Given the description of an element on the screen output the (x, y) to click on. 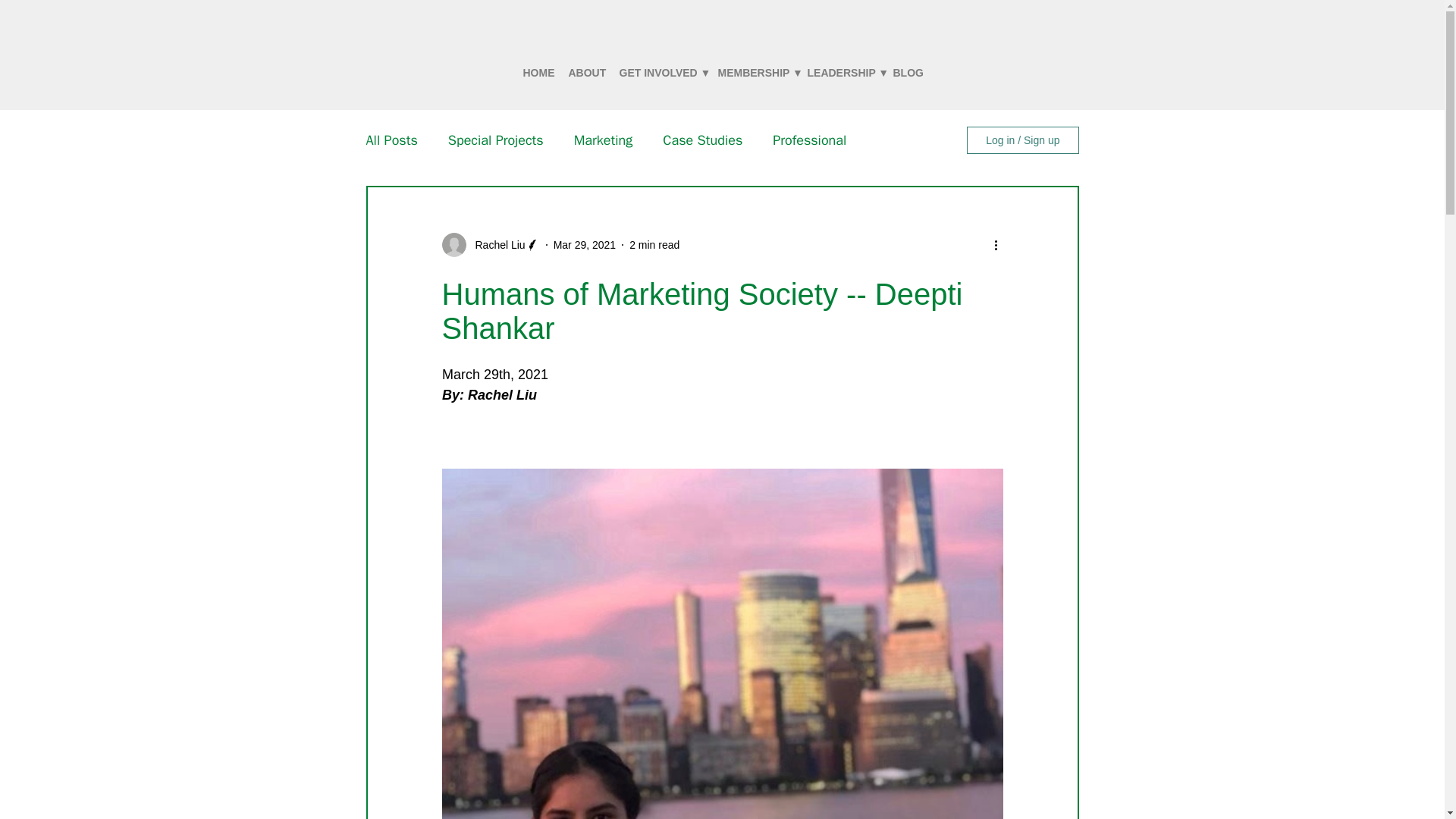
Mar 29, 2021 (584, 244)
Special Projects (495, 140)
Marketing (603, 140)
BLOG (906, 72)
2 min read (653, 244)
Rachel Liu (494, 244)
ABOUT (585, 72)
Professional (809, 140)
Case Studies (702, 140)
All Posts (390, 140)
